Given the description of an element on the screen output the (x, y) to click on. 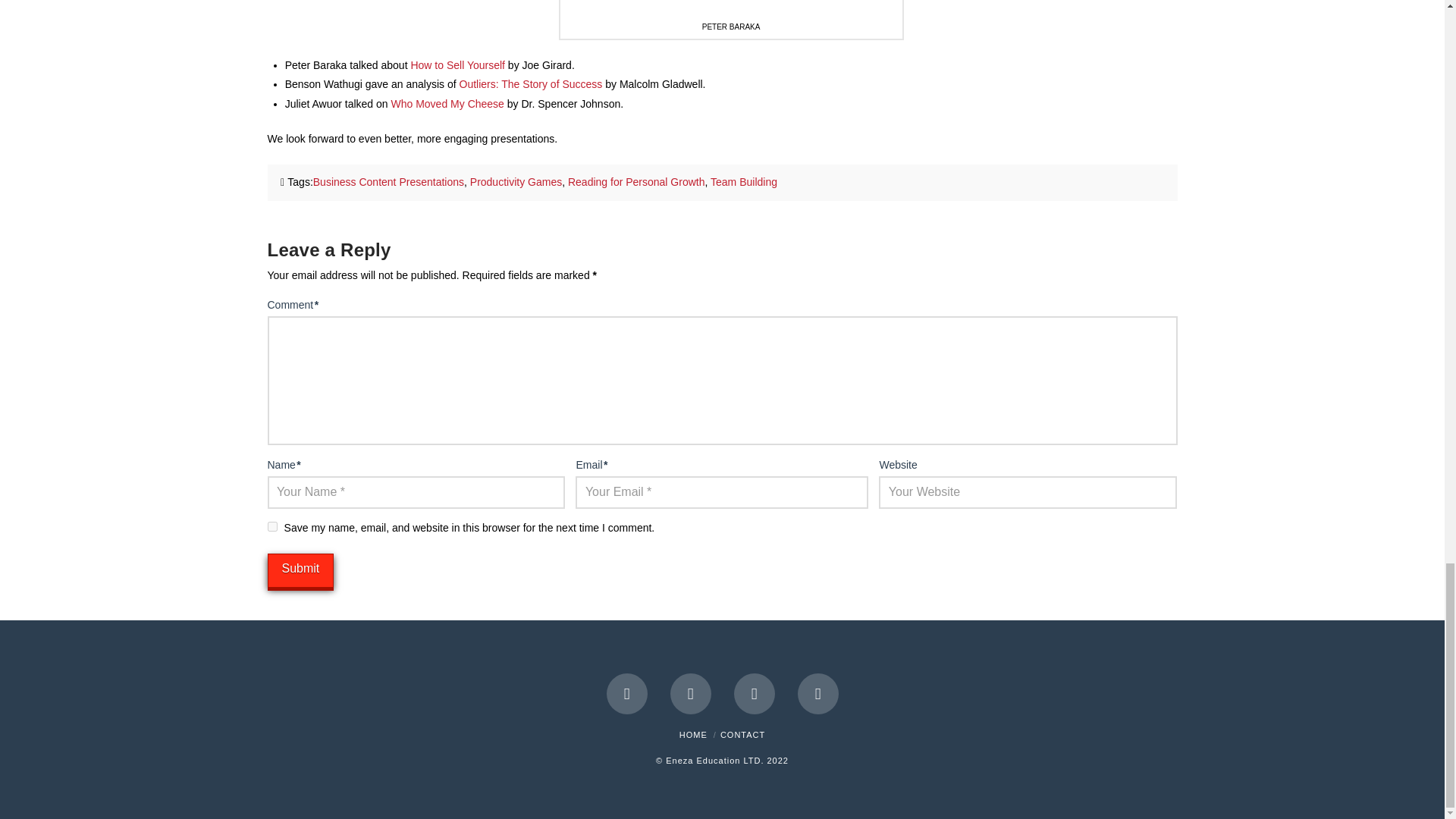
Facebook (627, 693)
Reading for Personal Growth (635, 182)
Instagram (817, 693)
Productivity Games (516, 182)
Submit (299, 570)
LinkedIn (753, 693)
yes (271, 526)
How to Sell Yourself (457, 64)
HOME (693, 734)
Submit (299, 570)
